Given the description of an element on the screen output the (x, y) to click on. 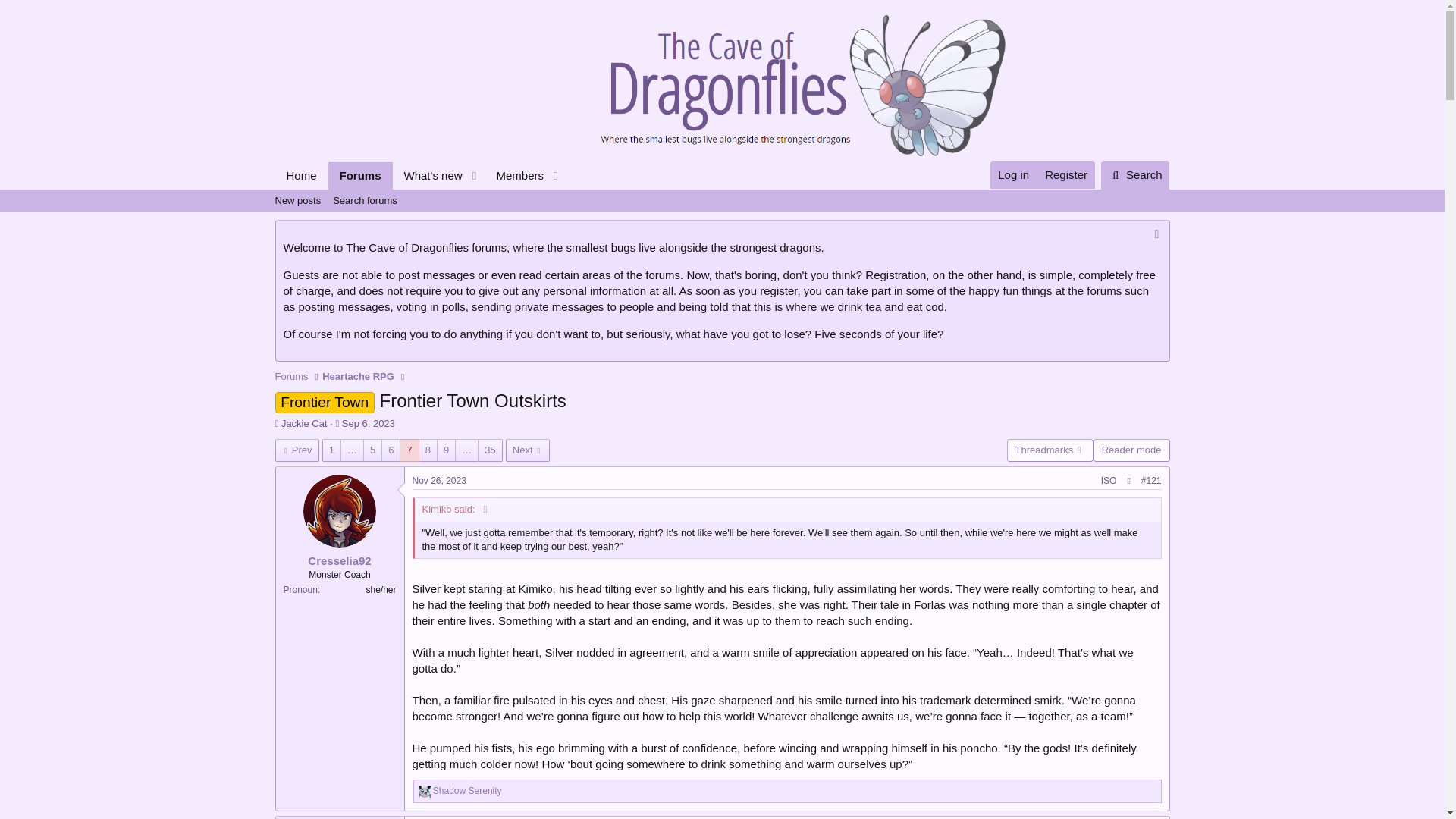
Threadmarks (1050, 449)
Nov 26, 2023 at 12:01 AM (438, 480)
Prev (296, 449)
Jackie Cat (304, 423)
Veelove (424, 791)
Heartache RPG (357, 376)
Members (514, 175)
Register (720, 217)
Home (1065, 174)
